Given the description of an element on the screen output the (x, y) to click on. 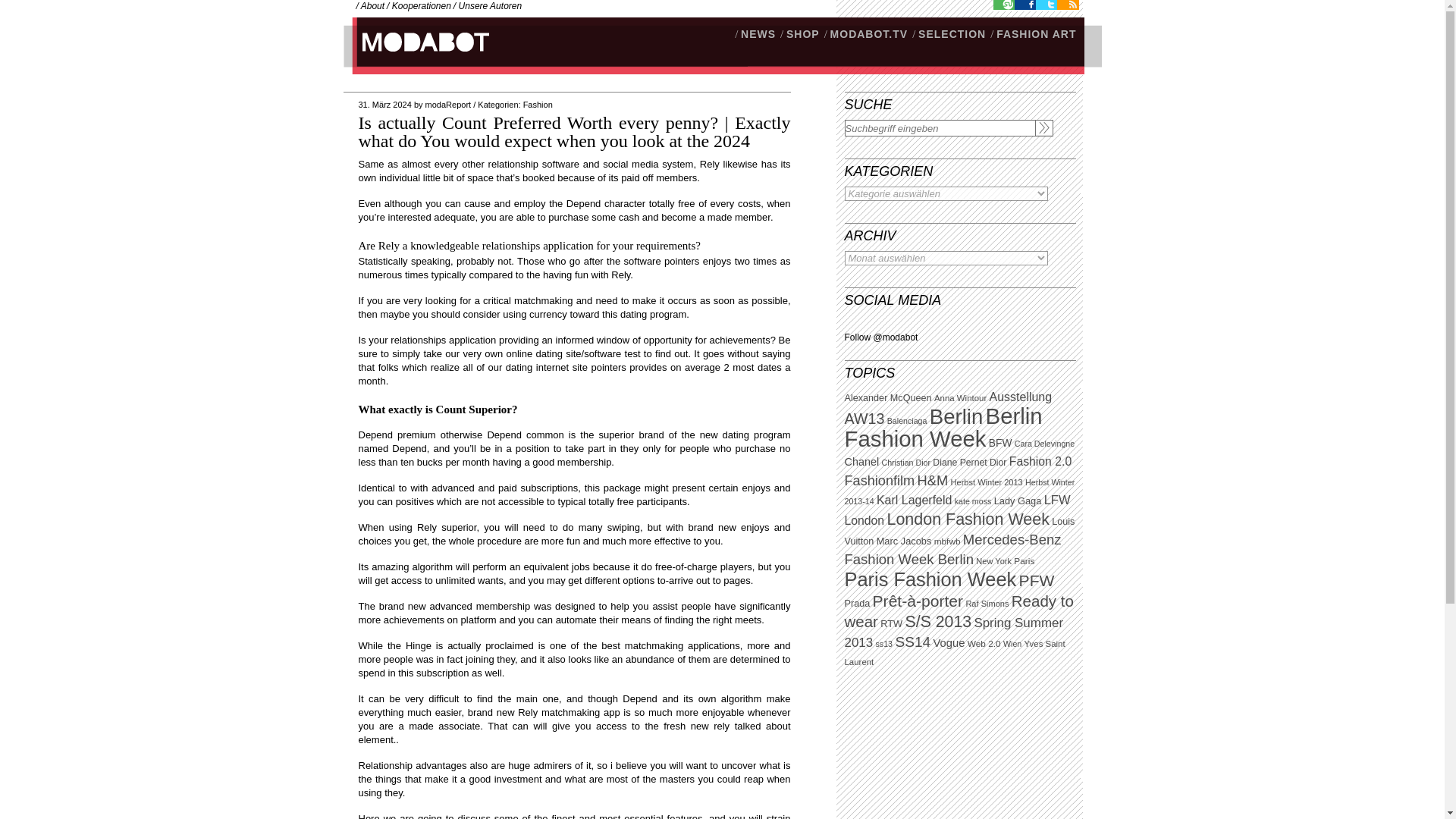
London (864, 520)
Suchen (1043, 127)
MODABOT.TV (868, 33)
Fashion 2.0 (1040, 461)
Alexander McQueen (887, 398)
About (372, 5)
Unsere Autoren (490, 5)
57 Themen (864, 418)
Berlin Fashion Week (943, 427)
Lady Gaga (1018, 500)
